Given the description of an element on the screen output the (x, y) to click on. 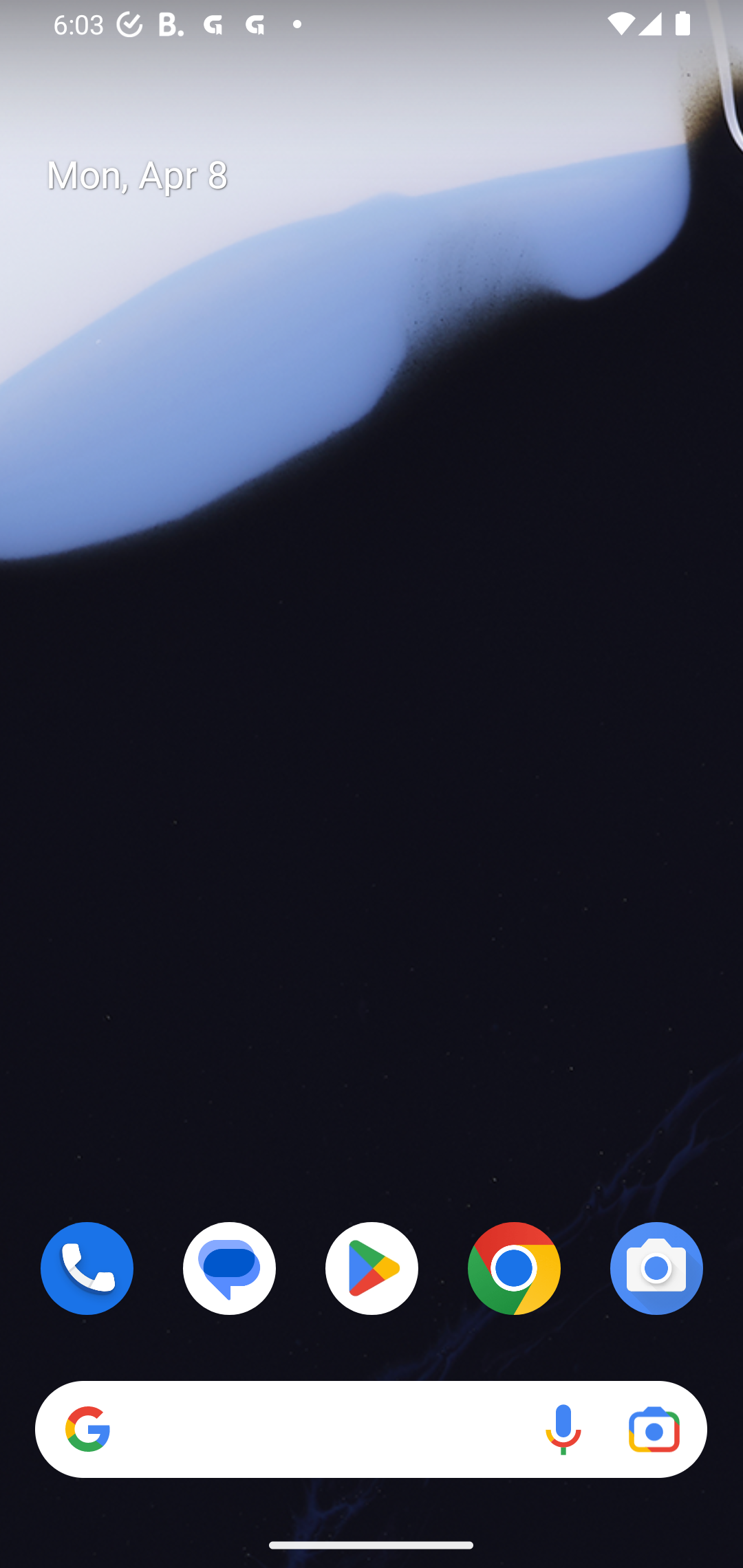
Mon, Apr 8 (386, 175)
Phone (86, 1268)
Messages (229, 1268)
Play Store (371, 1268)
Chrome (513, 1268)
Camera (656, 1268)
Search Voice search Google Lens (370, 1429)
Voice search (562, 1429)
Google Lens (653, 1429)
